Given the description of an element on the screen output the (x, y) to click on. 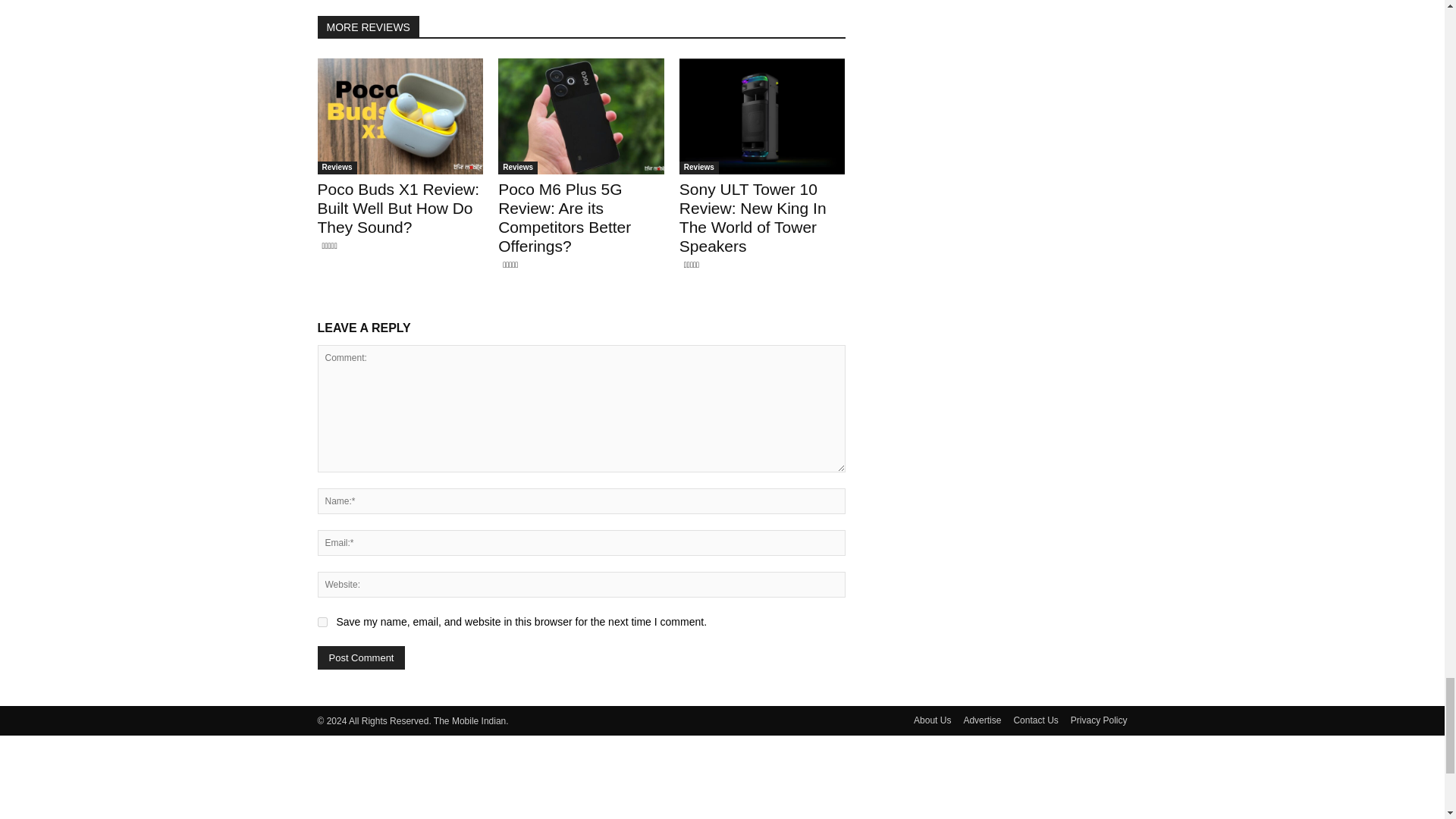
yes (321, 622)
Post Comment (360, 657)
